Given the description of an element on the screen output the (x, y) to click on. 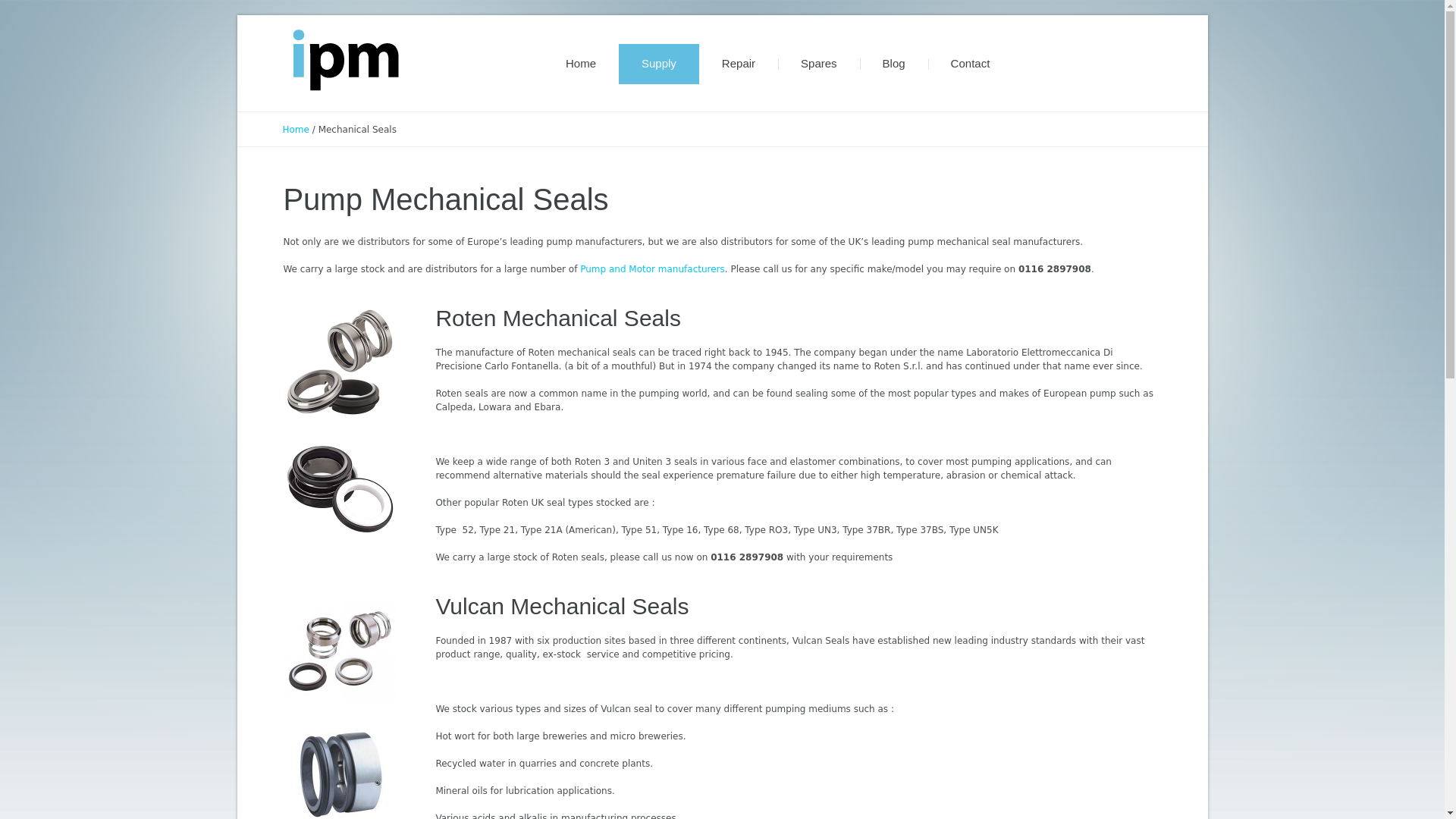
Spares (818, 64)
Contact (970, 64)
Home (580, 64)
Home (295, 129)
Supply (658, 64)
Pump and Motor manufacturers (652, 268)
Blog (894, 64)
Repair (737, 64)
